Given the description of an element on the screen output the (x, y) to click on. 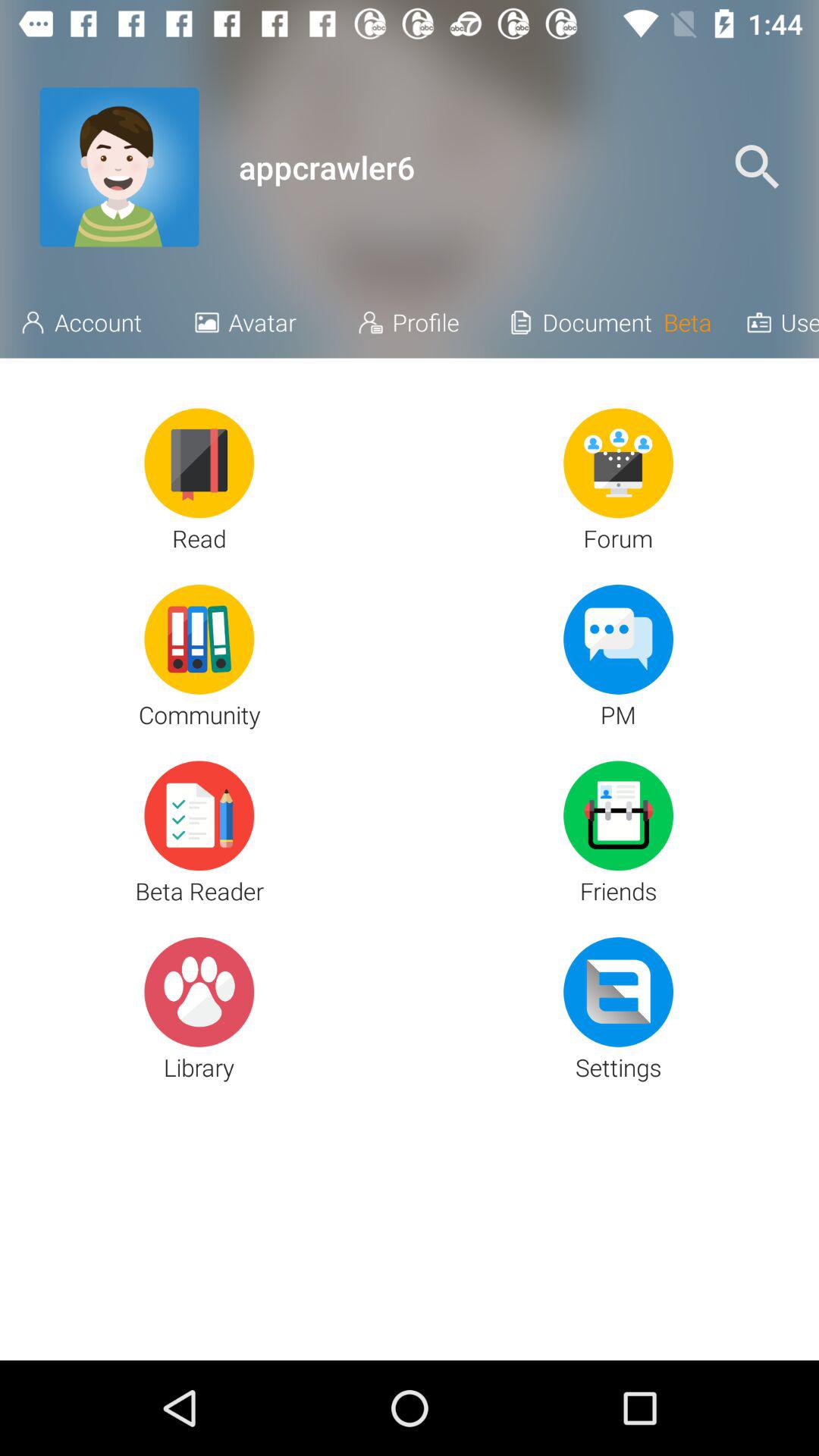
open the item next to appcrawler6 (119, 166)
